Given the description of an element on the screen output the (x, y) to click on. 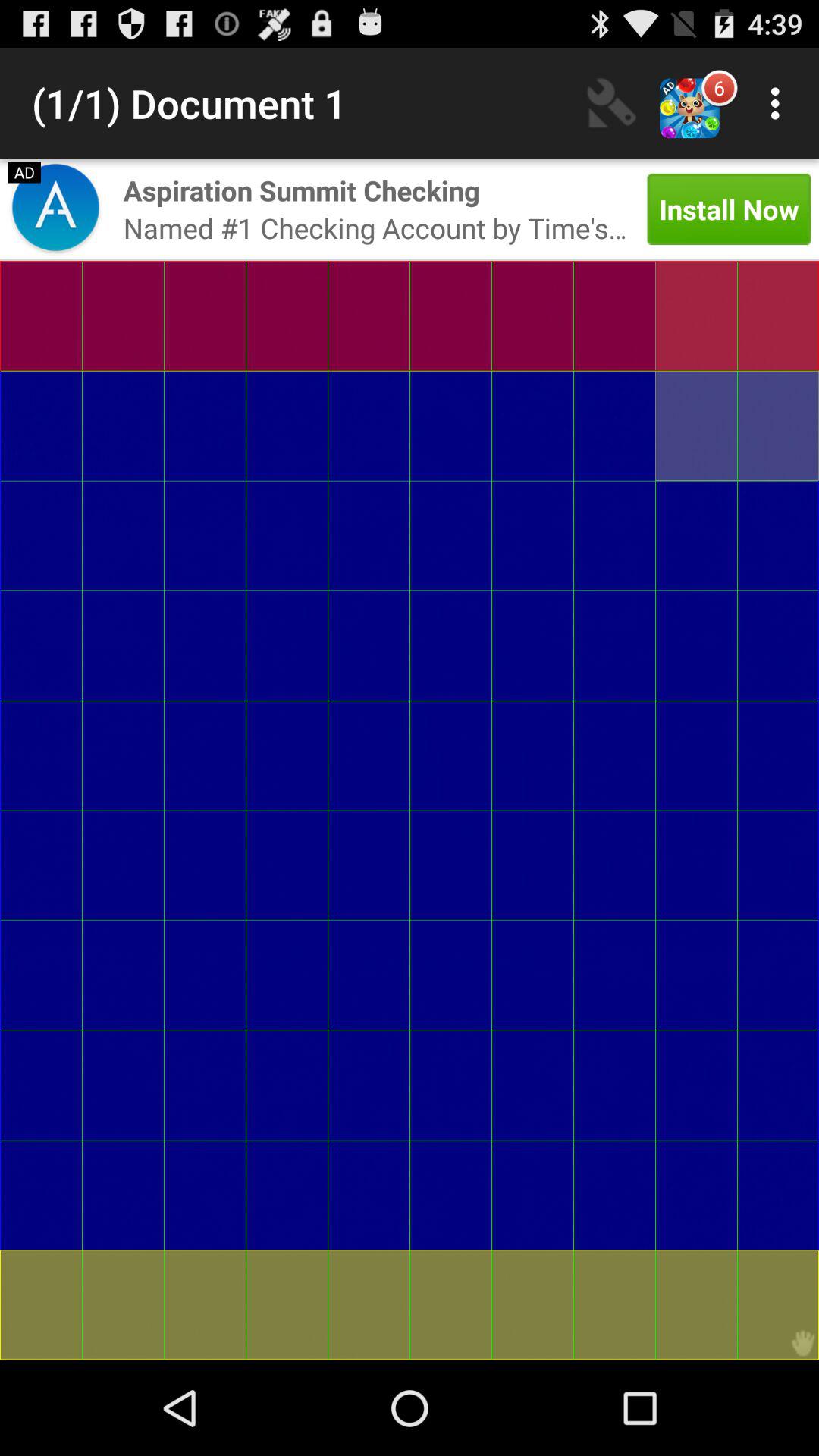
tap icon next to the 6 (779, 103)
